Given the description of an element on the screen output the (x, y) to click on. 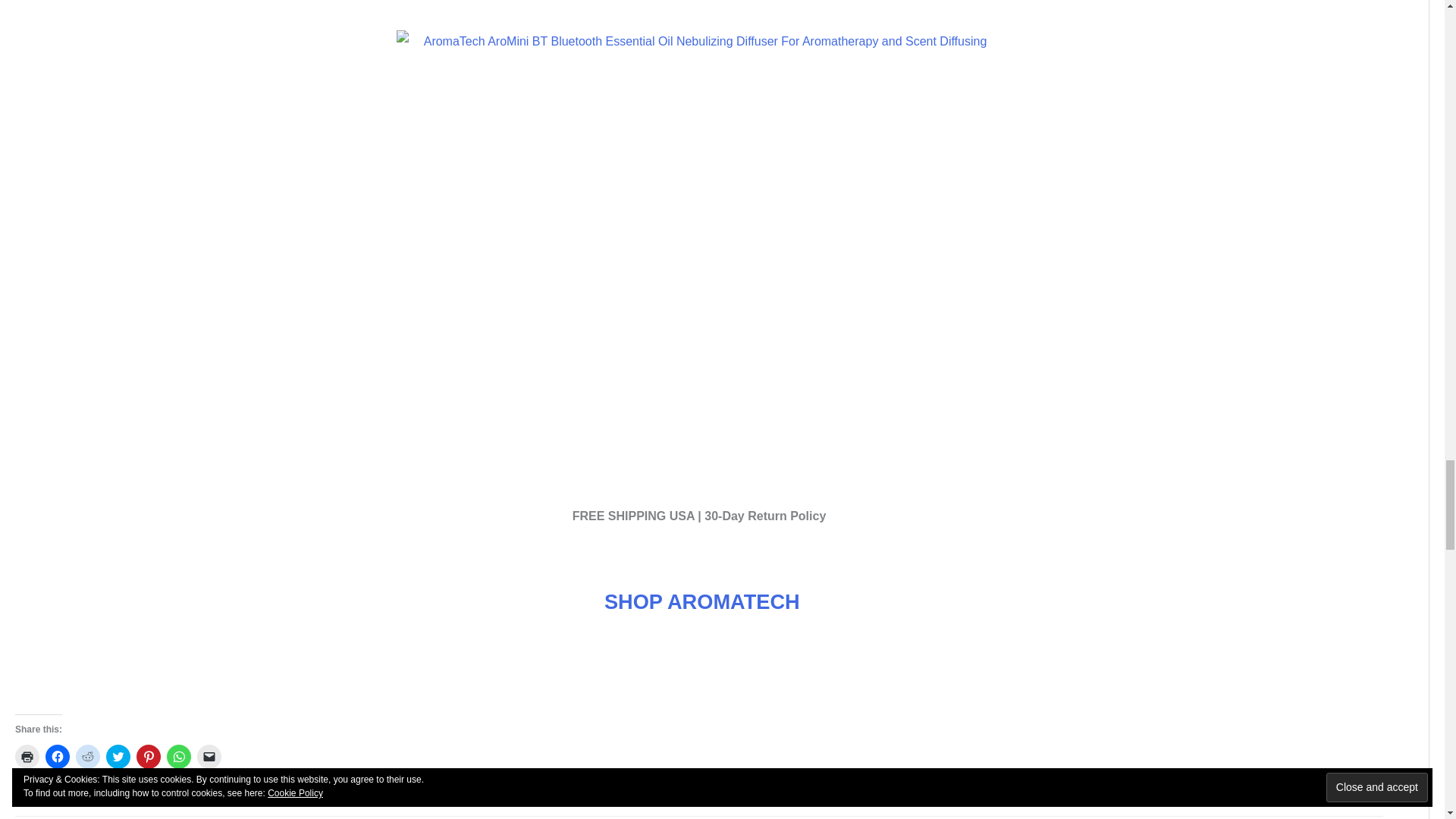
Click to email a link to a friend (208, 756)
Click to share on Reddit (87, 756)
SHOP AROMATECH (701, 601)
Click to share on Facebook (57, 756)
Click to share on WhatsApp (178, 756)
Click to share on Twitter (118, 756)
Click to print (26, 756)
Click to share on Pinterest (148, 756)
